Given the description of an element on the screen output the (x, y) to click on. 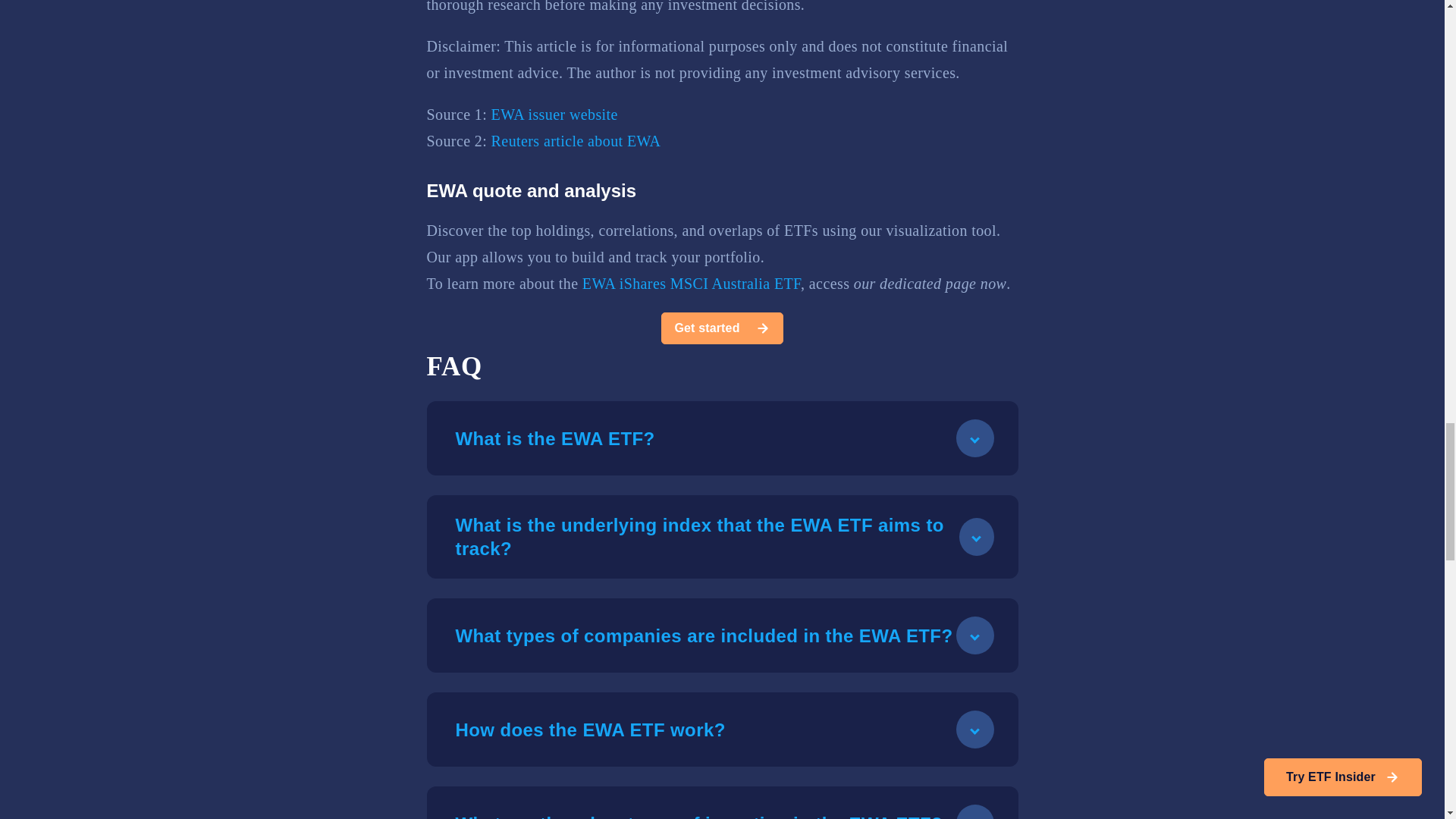
Get started (722, 327)
EWA (598, 283)
Reuters article about EWA (576, 140)
iShares MSCI Australia ETF (710, 283)
EWA issuer website (554, 114)
